Given the description of an element on the screen output the (x, y) to click on. 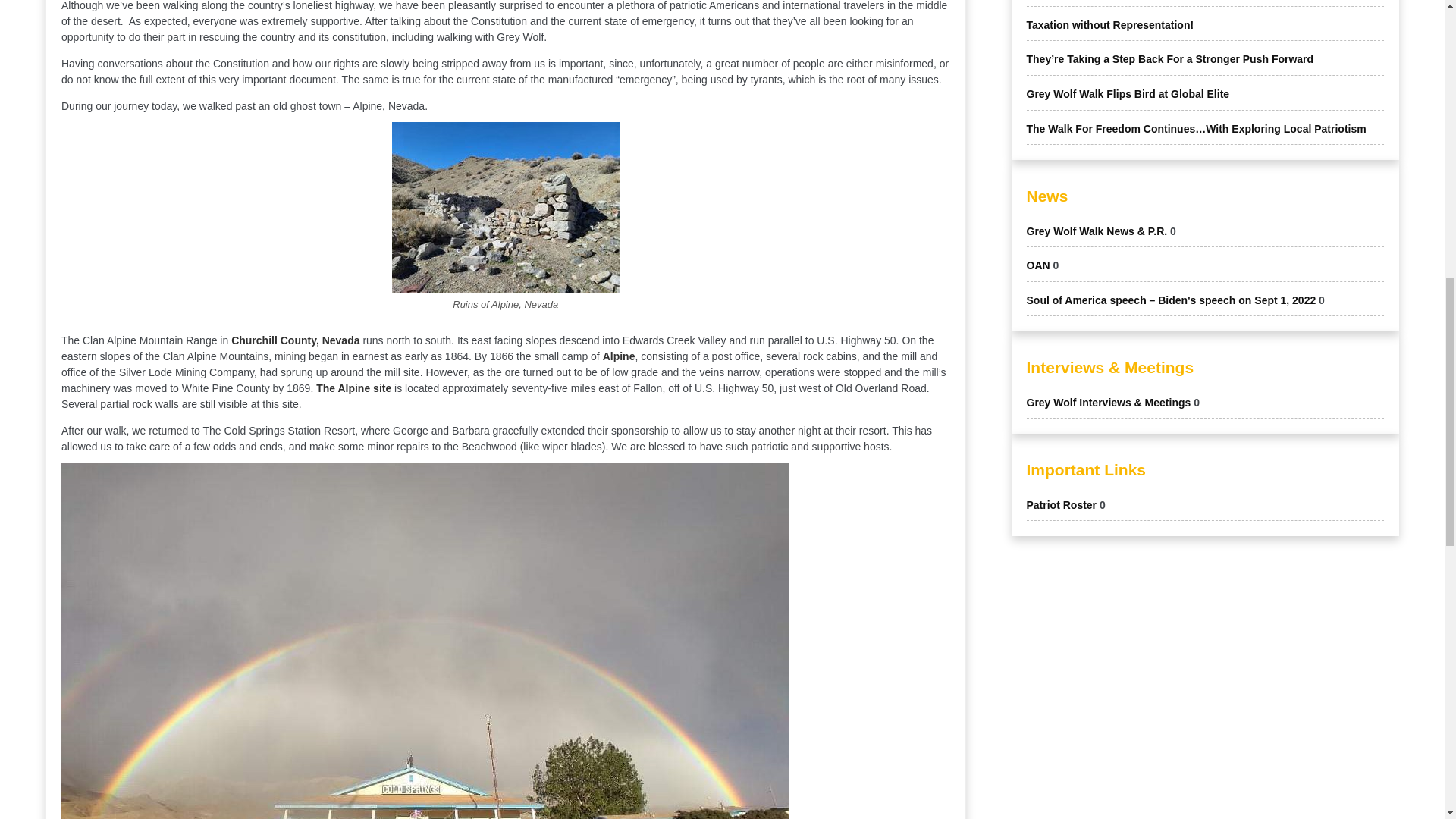
Churchill County, Nevada (295, 340)
Alpine (618, 356)
The Alpine site (353, 387)
